Given the description of an element on the screen output the (x, y) to click on. 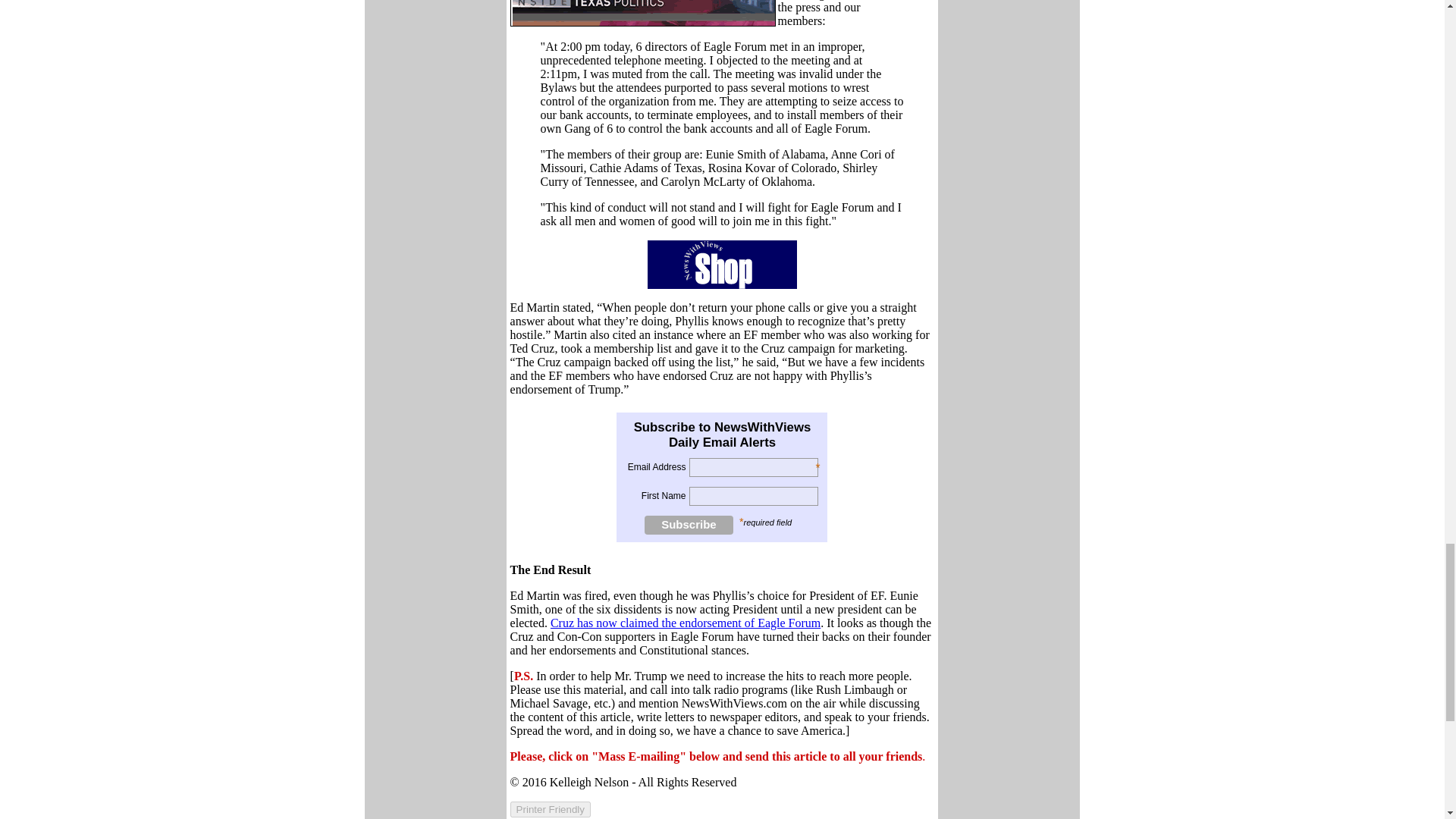
Subscribe (689, 524)
Subscribe (689, 524)
Printer Friendly (551, 809)
Cruz has now claimed the endorsement of Eagle Forum (685, 622)
